Given the description of an element on the screen output the (x, y) to click on. 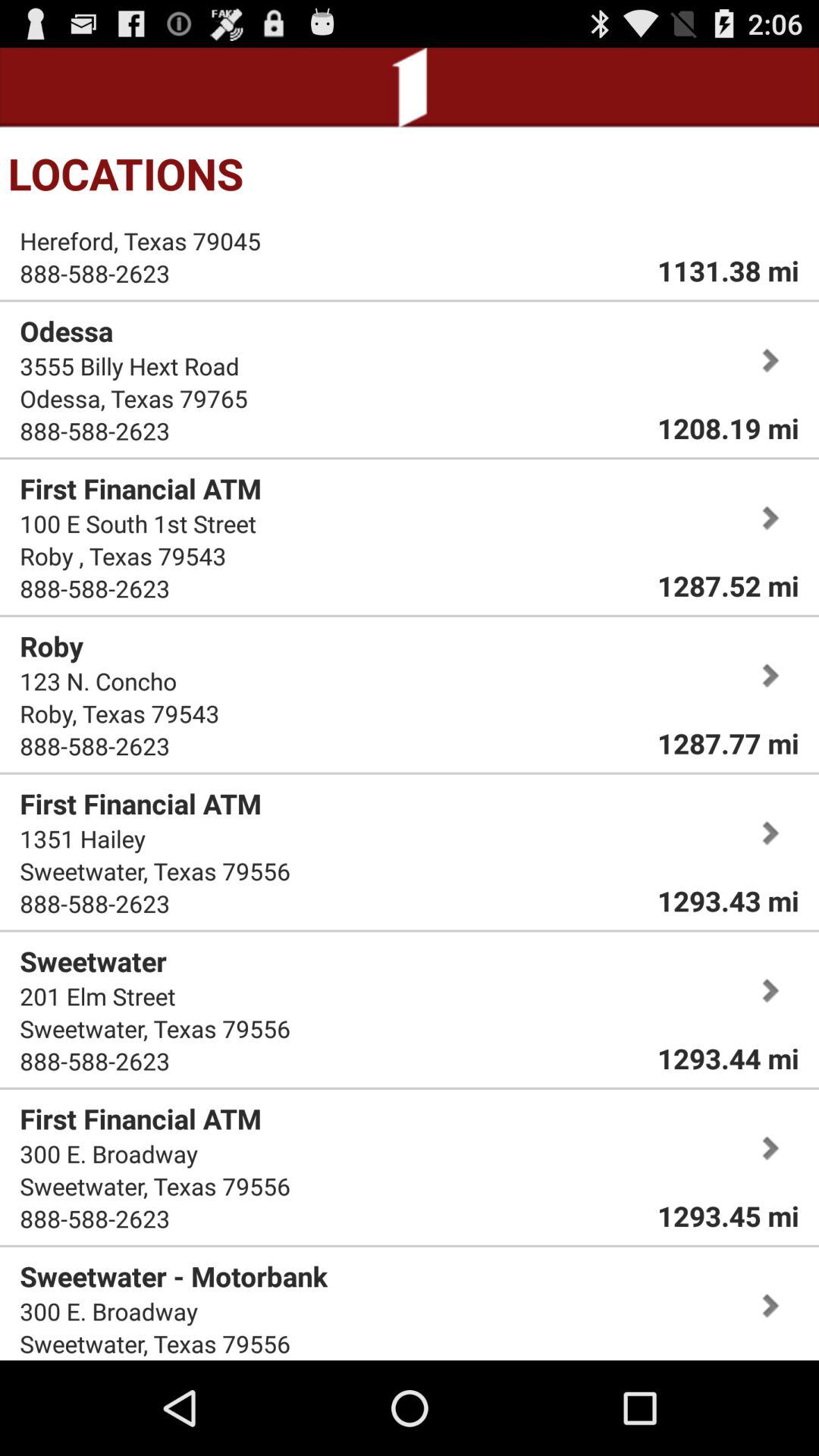
flip until 1131.38 mi item (728, 270)
